Given the description of an element on the screen output the (x, y) to click on. 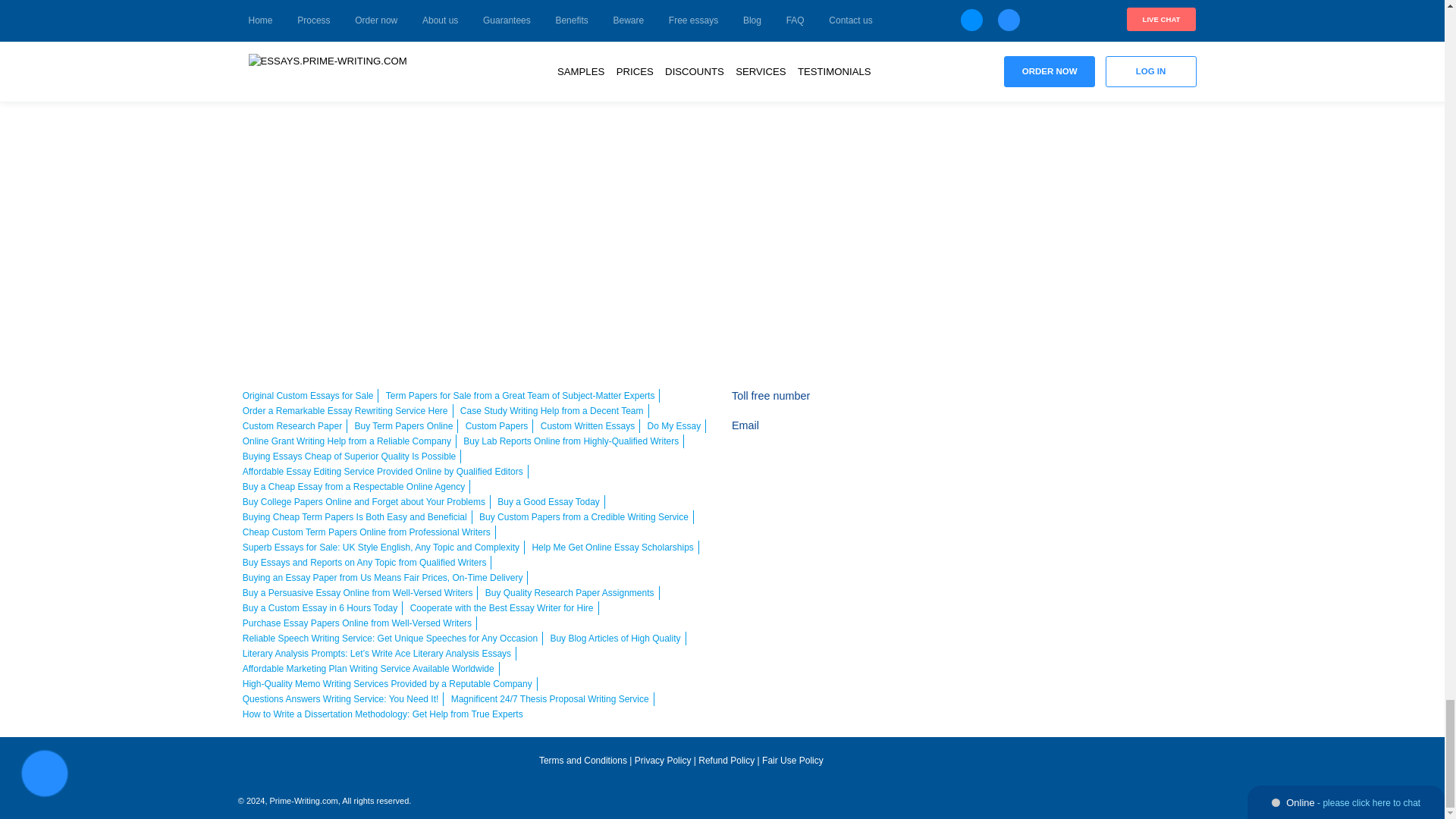
essays.prime-writing.com (342, 766)
Credit and debit cards by Visa (1005, 405)
Credit and debit cards by MasterCard (1048, 405)
essays.prime-writing.com (680, 795)
essays.prime-writing.com (1050, 765)
Credit cards by American Express (1091, 405)
Credit cards by Discover (1176, 405)
Apple pay (1133, 405)
Credit cards by JCB (1112, 435)
Credit cards by Diners Club (1069, 435)
